Given the description of an element on the screen output the (x, y) to click on. 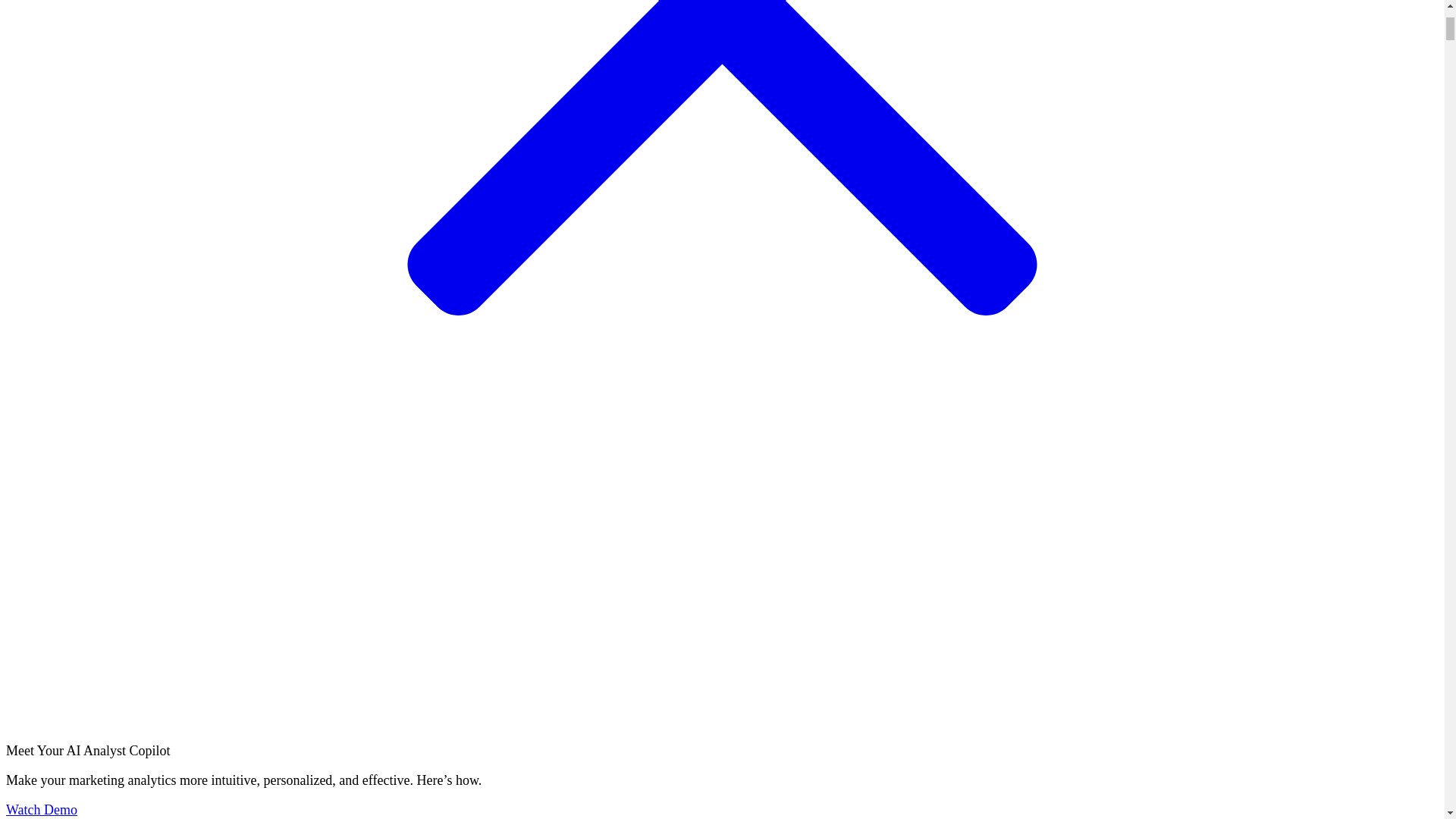
Watch Demo (41, 809)
